Given the description of an element on the screen output the (x, y) to click on. 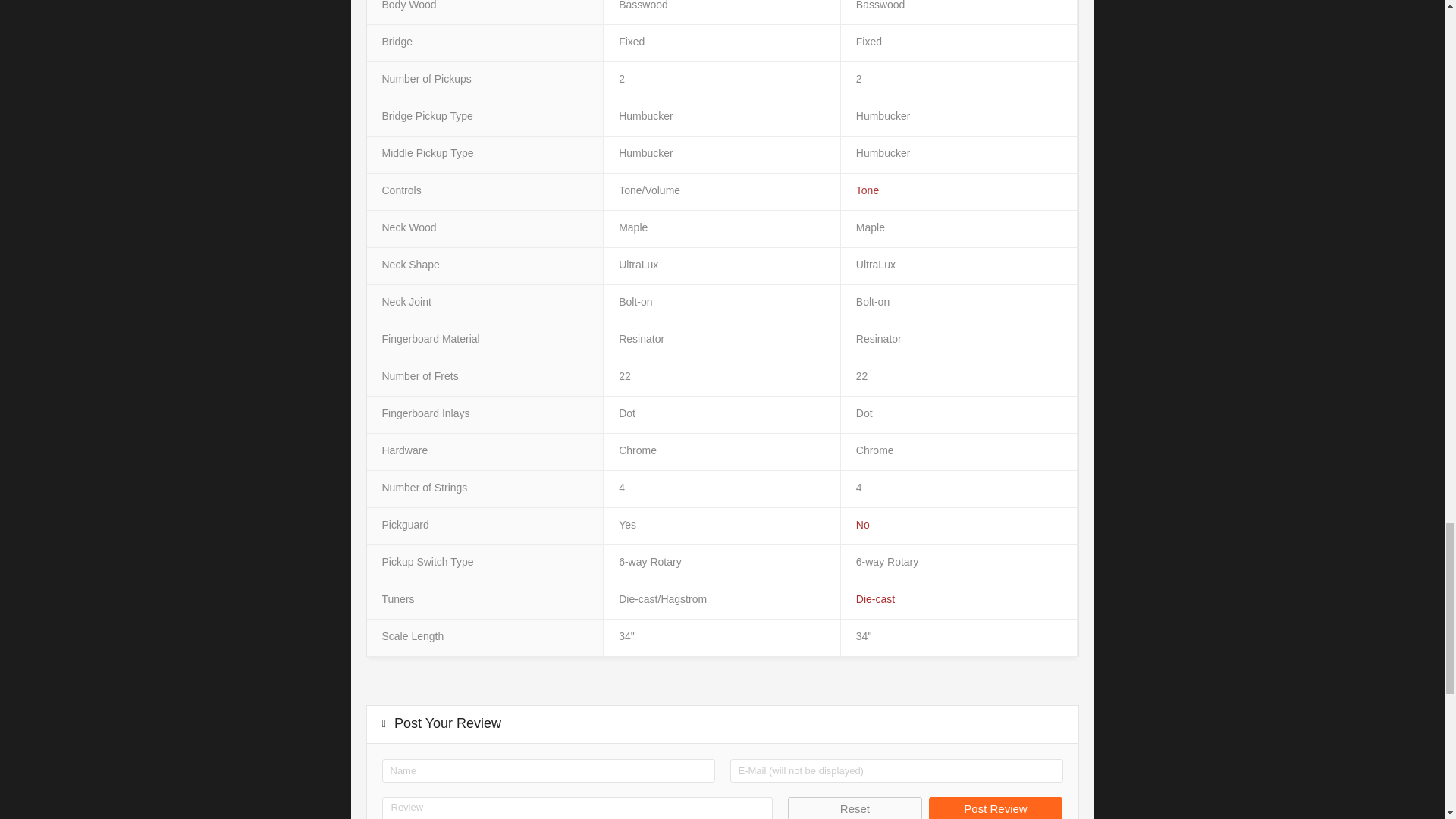
Post Review (995, 807)
